Given the description of an element on the screen output the (x, y) to click on. 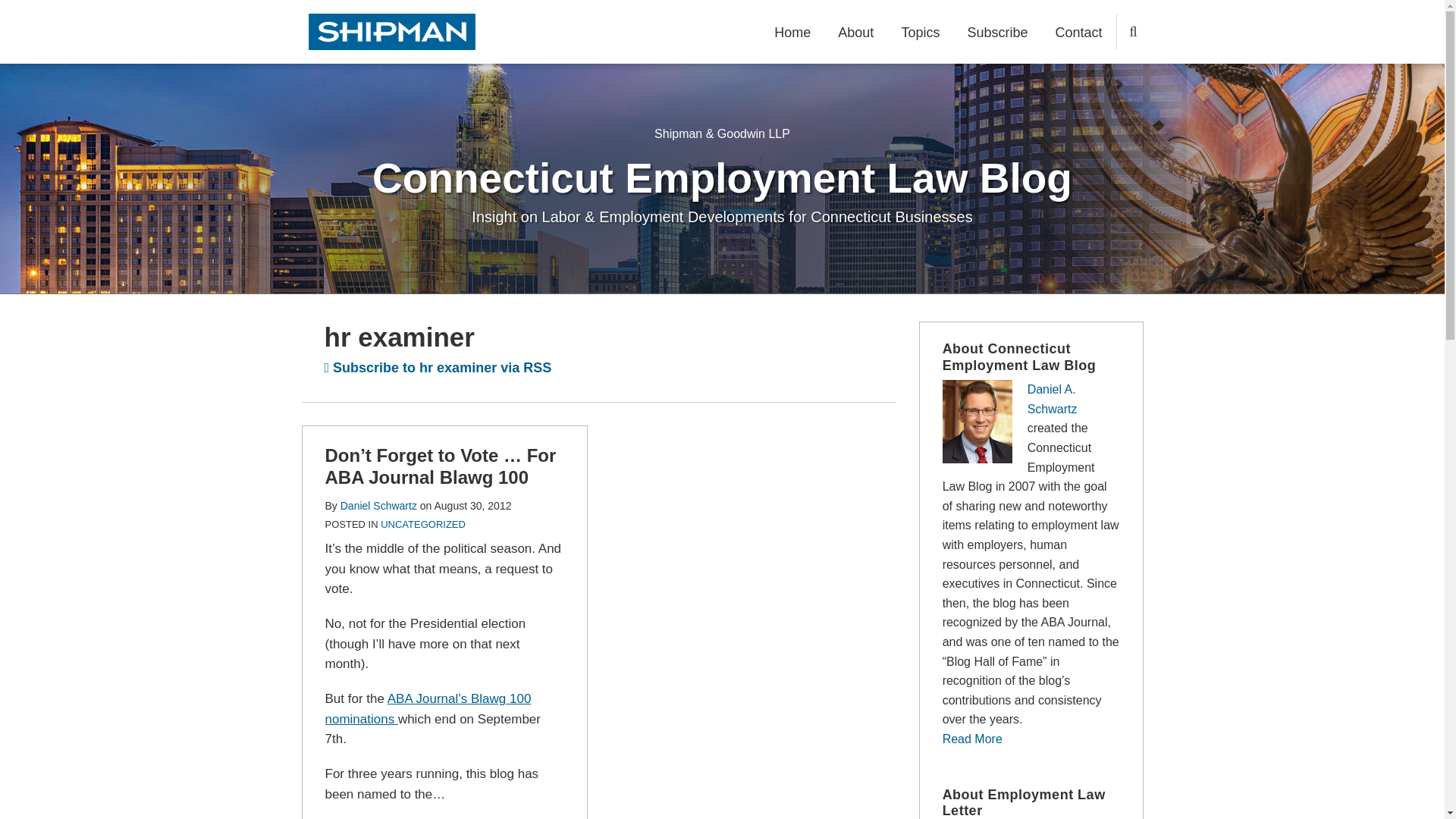
UNCATEGORIZED (422, 523)
Subscribe to hr examiner via RSS (437, 367)
Daniel Schwartz (378, 505)
Daniel A. Schwartz (1052, 399)
Subscribe (996, 32)
Contact (1078, 32)
Connecticut Employment Law Blog (721, 177)
Read More (972, 738)
Home (792, 32)
Topics (920, 32)
